Given the description of an element on the screen output the (x, y) to click on. 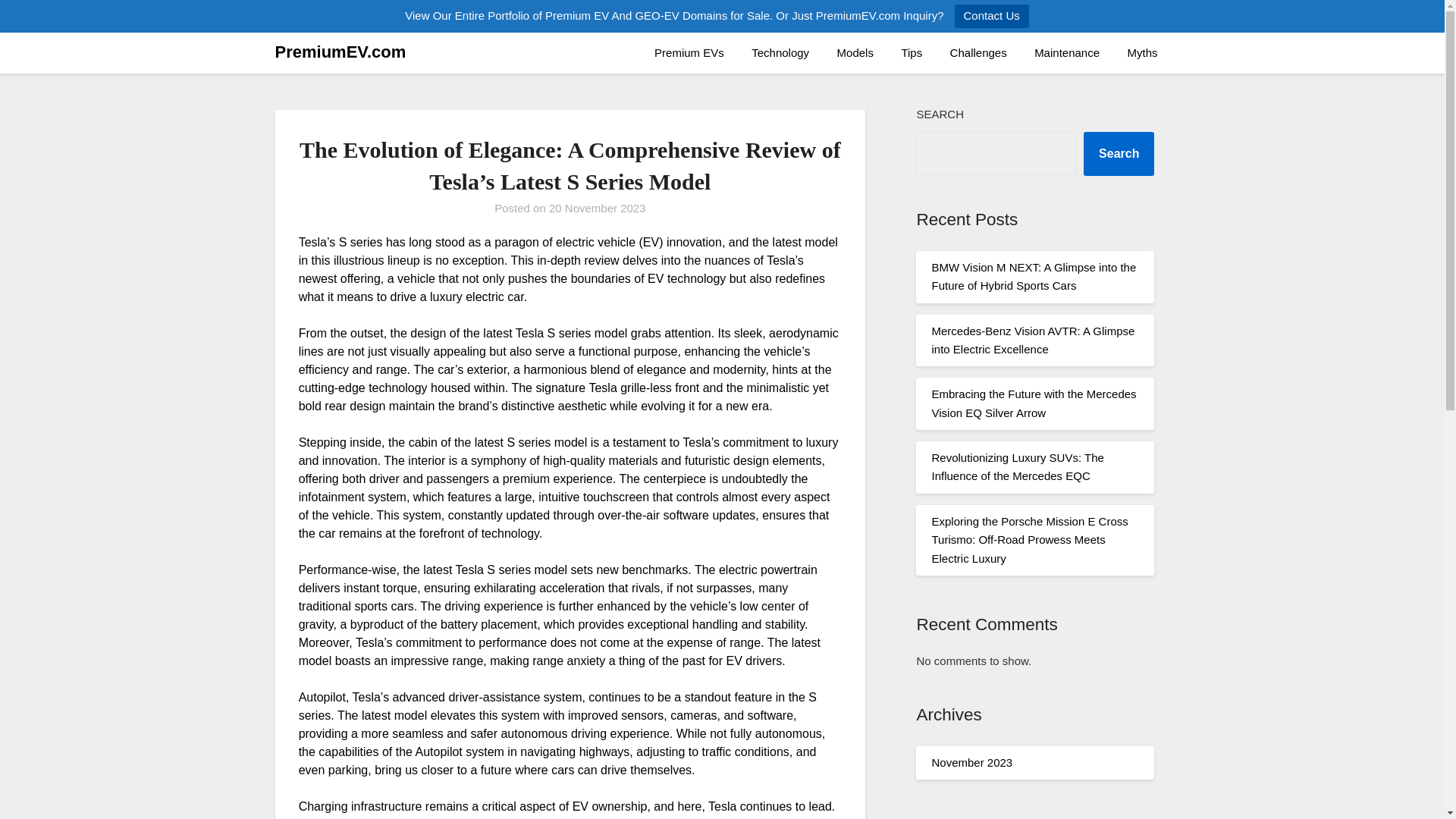
Myths (1142, 52)
Tips (911, 52)
Contact Us (992, 15)
Premium EVs (689, 52)
November 2023 (971, 762)
20 November 2023 (597, 207)
Models (855, 52)
Maintenance (1067, 52)
Challenges (978, 52)
Technology (780, 52)
Search (1118, 153)
